Given the description of an element on the screen output the (x, y) to click on. 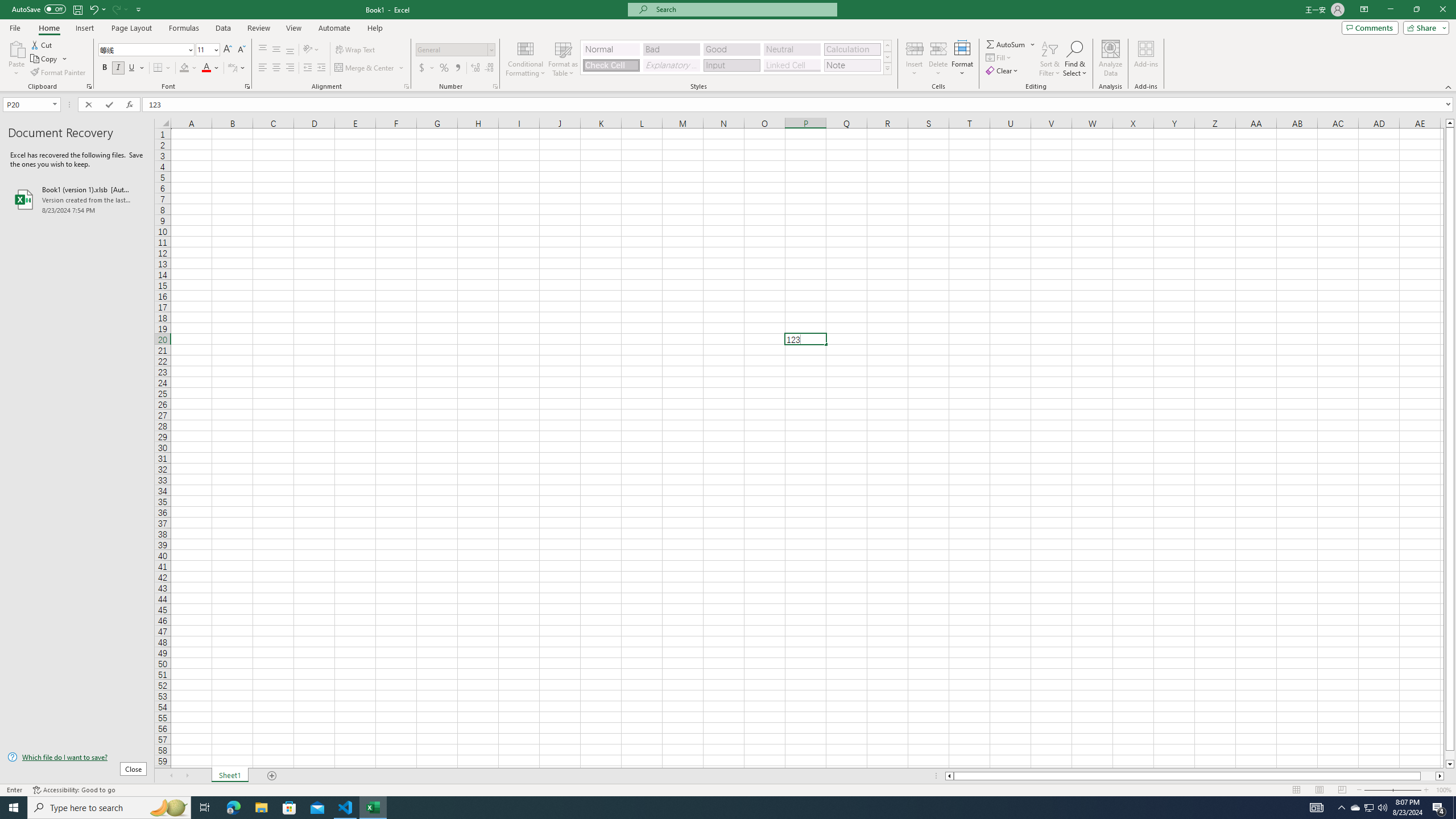
Calculation (852, 49)
Align Right (290, 67)
Underline (131, 67)
Edit Cell (805, 339)
Bottom Align (290, 49)
Wrap Text (355, 49)
Number Format (455, 49)
